Given the description of an element on the screen output the (x, y) to click on. 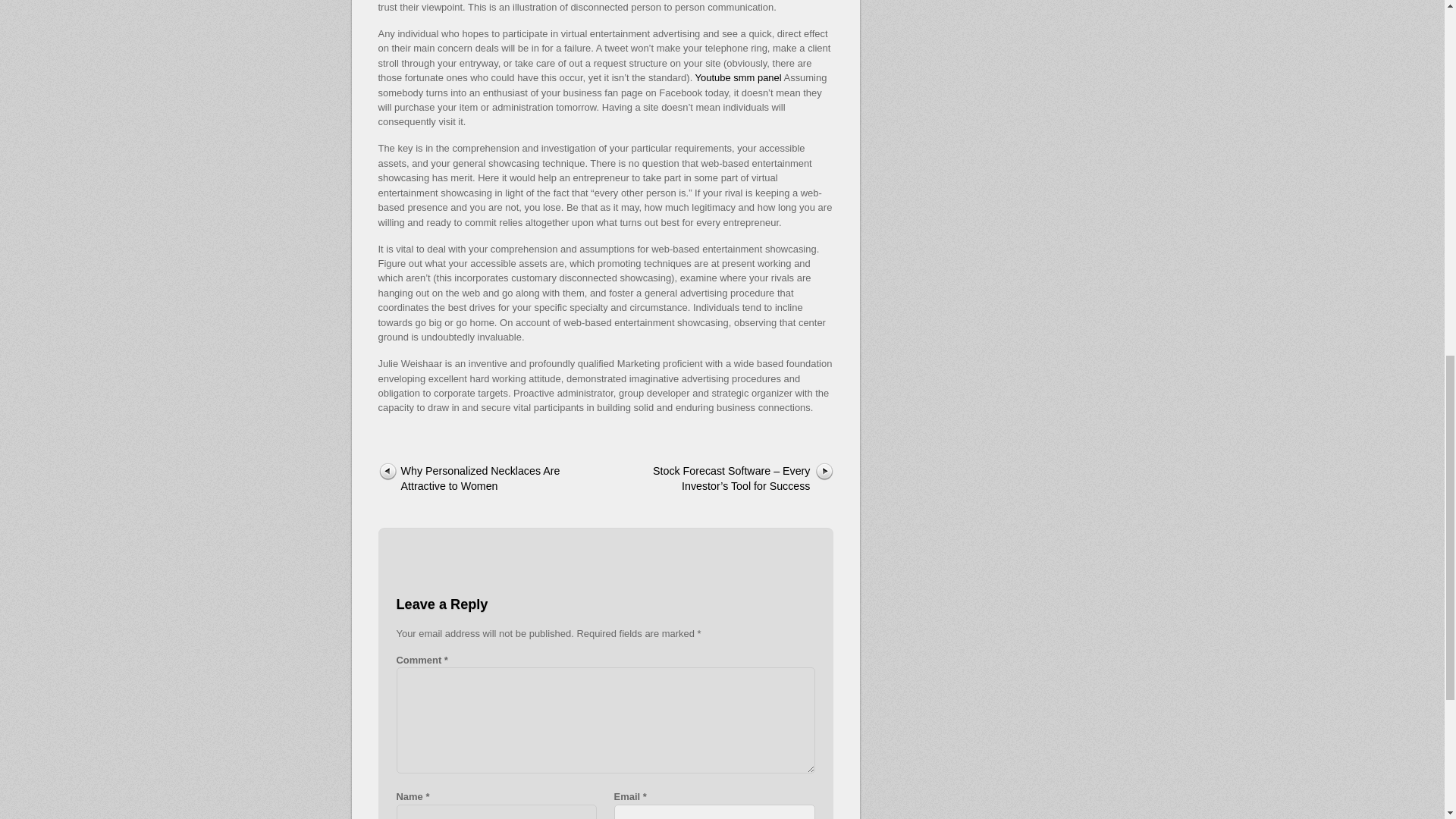
Youtube smm panel (738, 77)
Why Personalized Necklaces Are Attractive to Women (479, 479)
